Given the description of an element on the screen output the (x, y) to click on. 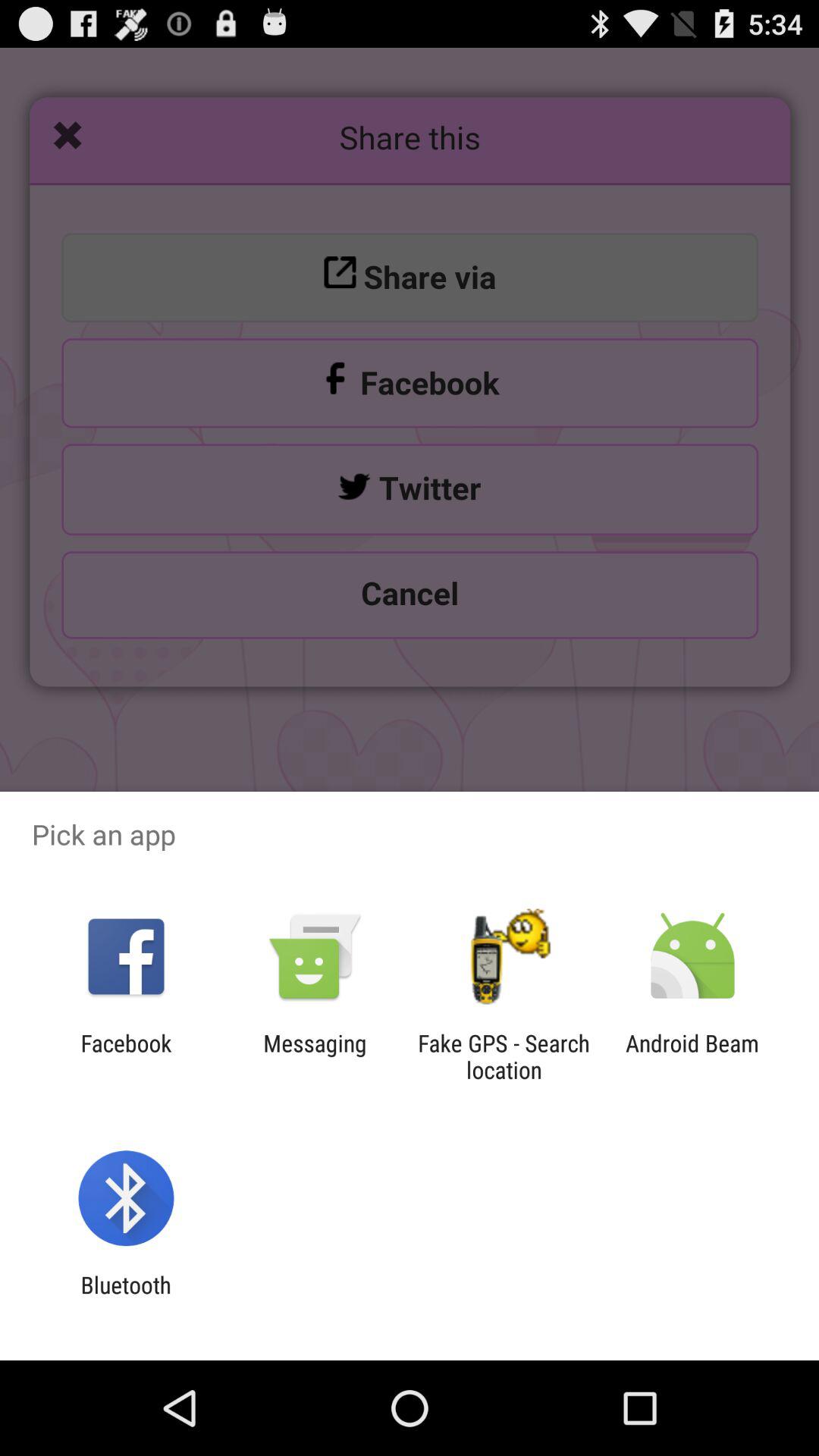
choose item at the bottom right corner (692, 1056)
